Given the description of an element on the screen output the (x, y) to click on. 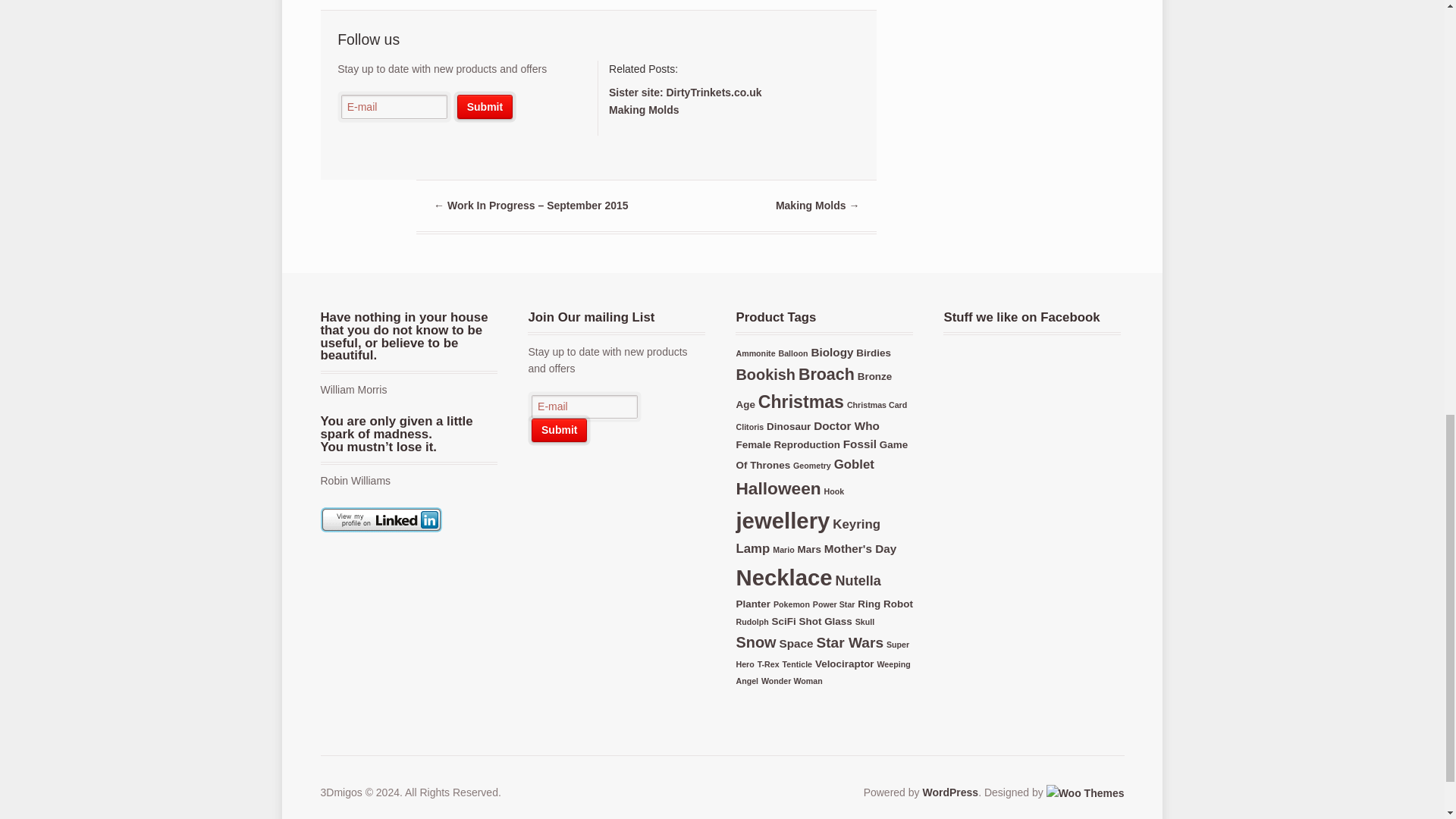
Submit (484, 106)
Ammonite (754, 352)
Twitter (539, 469)
Sister site: DirtyTrinkets.co.uk (684, 92)
E-mail (393, 106)
Facebook (566, 469)
Twitter (349, 146)
Making Molds (643, 110)
Submit (484, 106)
Submit (558, 430)
